Given the description of an element on the screen output the (x, y) to click on. 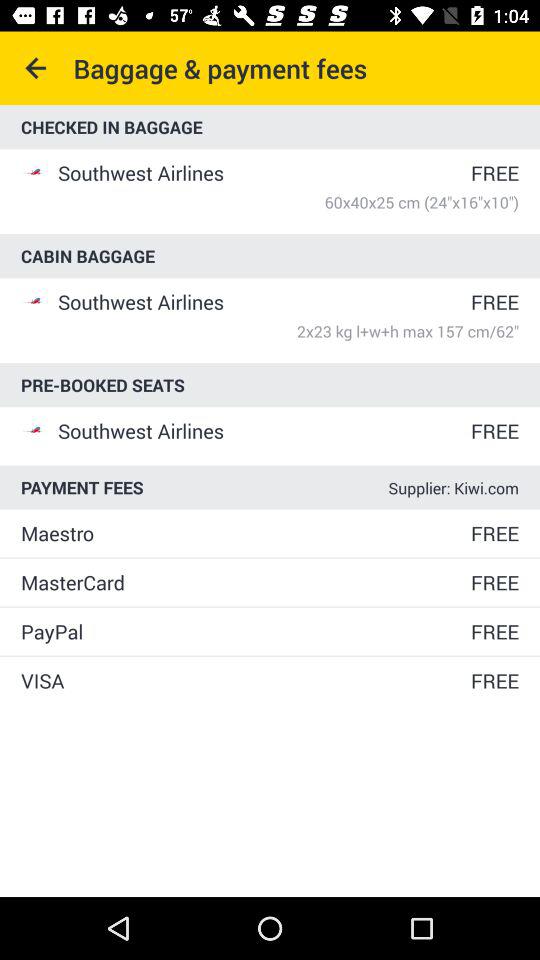
press the icon to the left of the free item (244, 631)
